Given the description of an element on the screen output the (x, y) to click on. 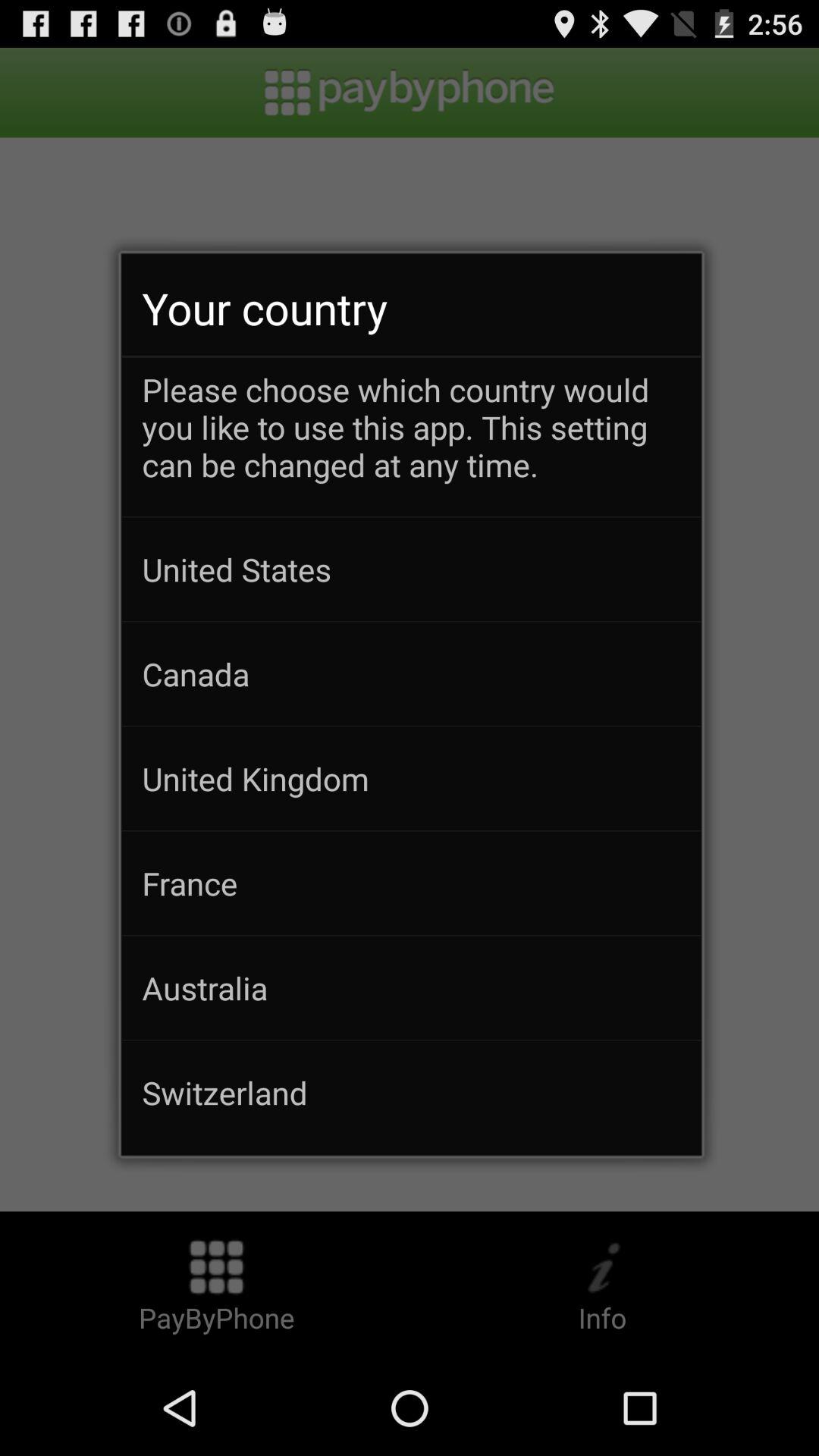
tap the please choose which app (411, 441)
